Given the description of an element on the screen output the (x, y) to click on. 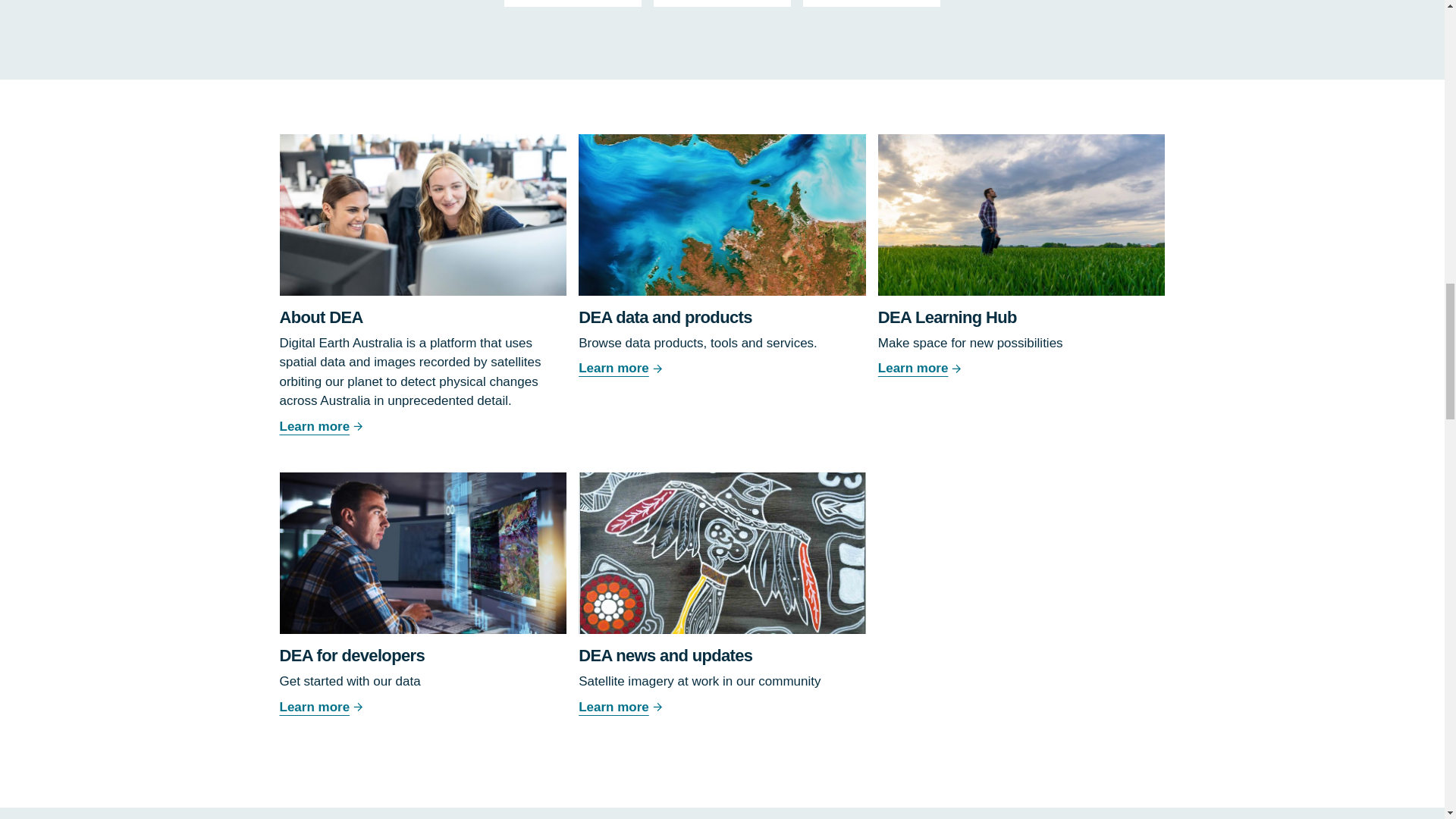
All DEA videos (721, 3)
Contact us (871, 3)
DEA Knowledge Hub (572, 3)
Learn more (422, 426)
Learn more (422, 707)
Learn more (722, 368)
Learn more (1021, 368)
Learn more (722, 707)
